Given the description of an element on the screen output the (x, y) to click on. 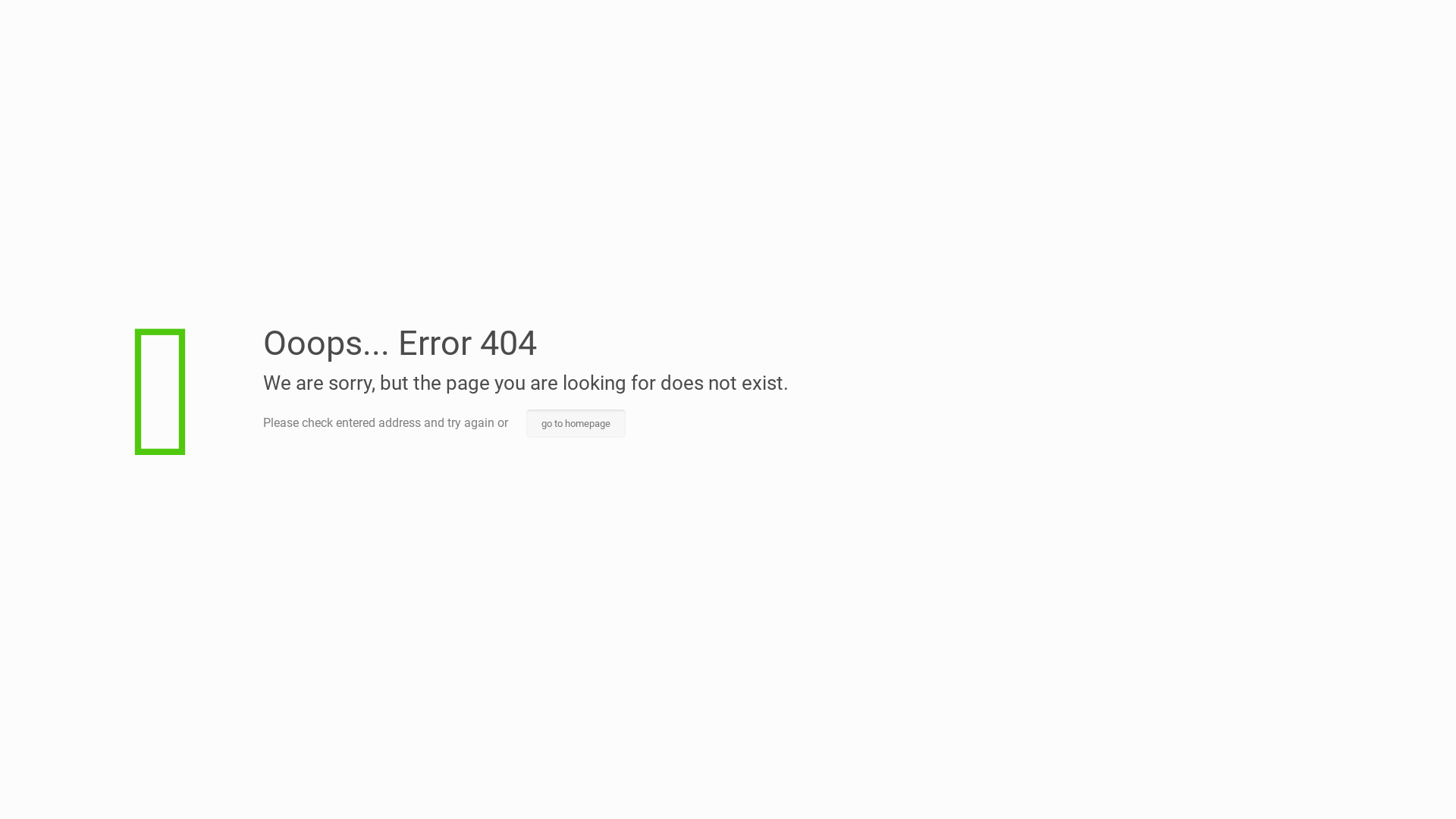
go to homepage Element type: text (575, 423)
